Given the description of an element on the screen output the (x, y) to click on. 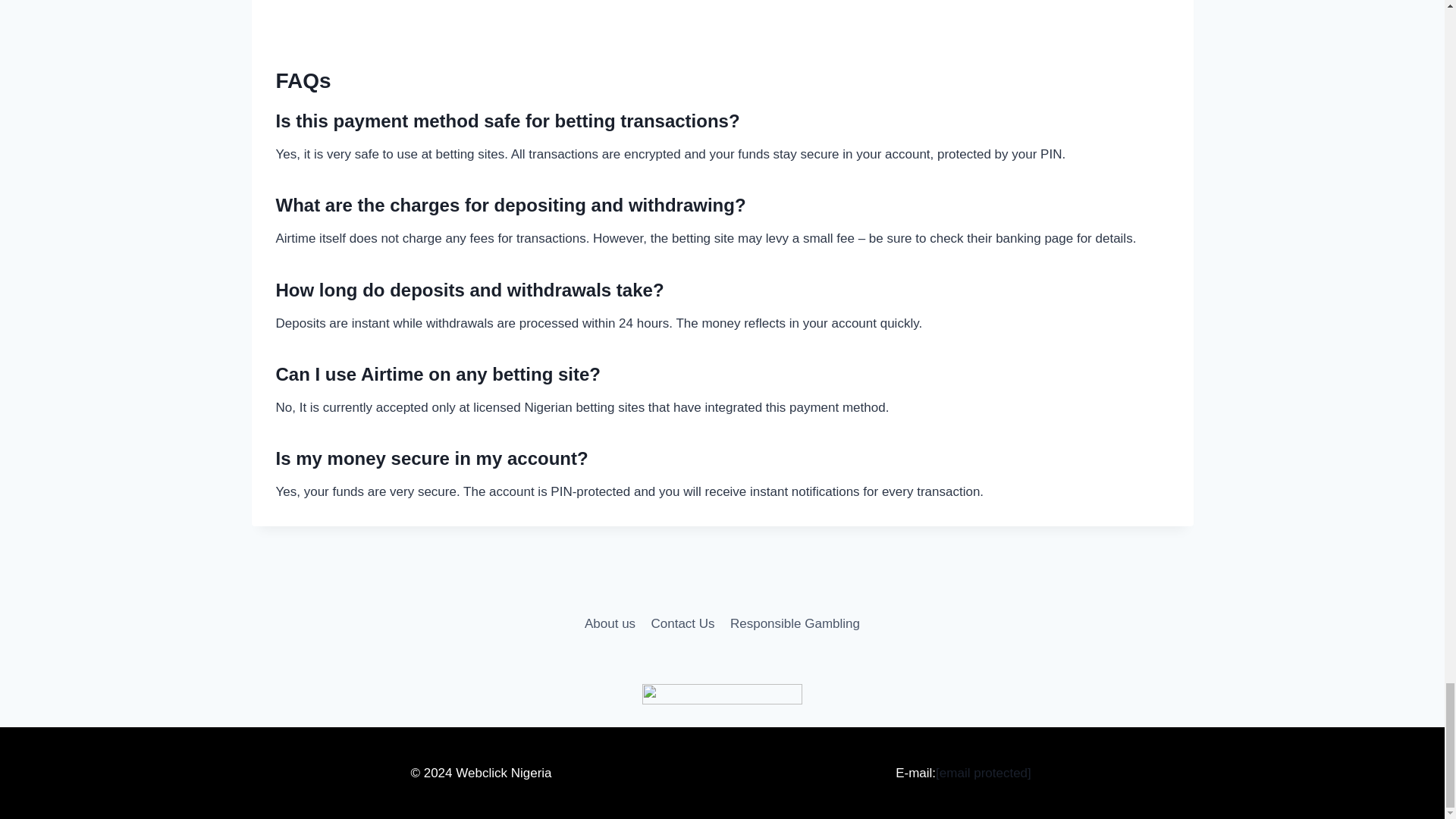
Responsible Gambling (794, 623)
Contact Us (682, 623)
About us (609, 623)
